Given the description of an element on the screen output the (x, y) to click on. 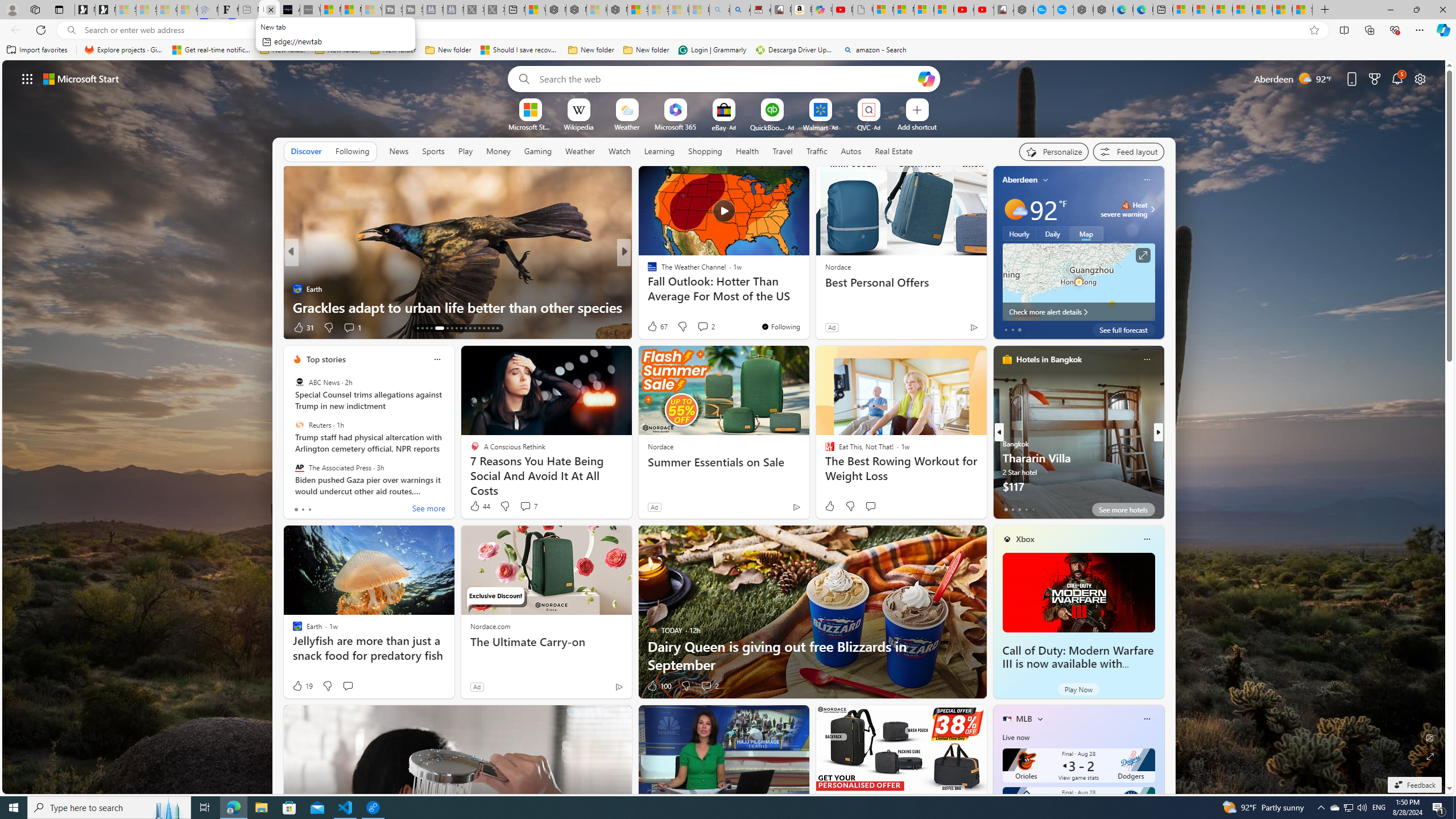
View comments 4 Comment (702, 327)
Thararin Villa (1078, 436)
Traffic (816, 151)
Personal Profile (12, 9)
Page settings (1420, 78)
AutomationID: tab-27 (470, 328)
Tab actions menu (58, 9)
Nordace Personal Offers (807, 307)
Health (746, 151)
Heat - Severe (1126, 204)
New folder (646, 49)
Microsoft Start Sports (529, 126)
Like (829, 505)
